Given the description of an element on the screen output the (x, y) to click on. 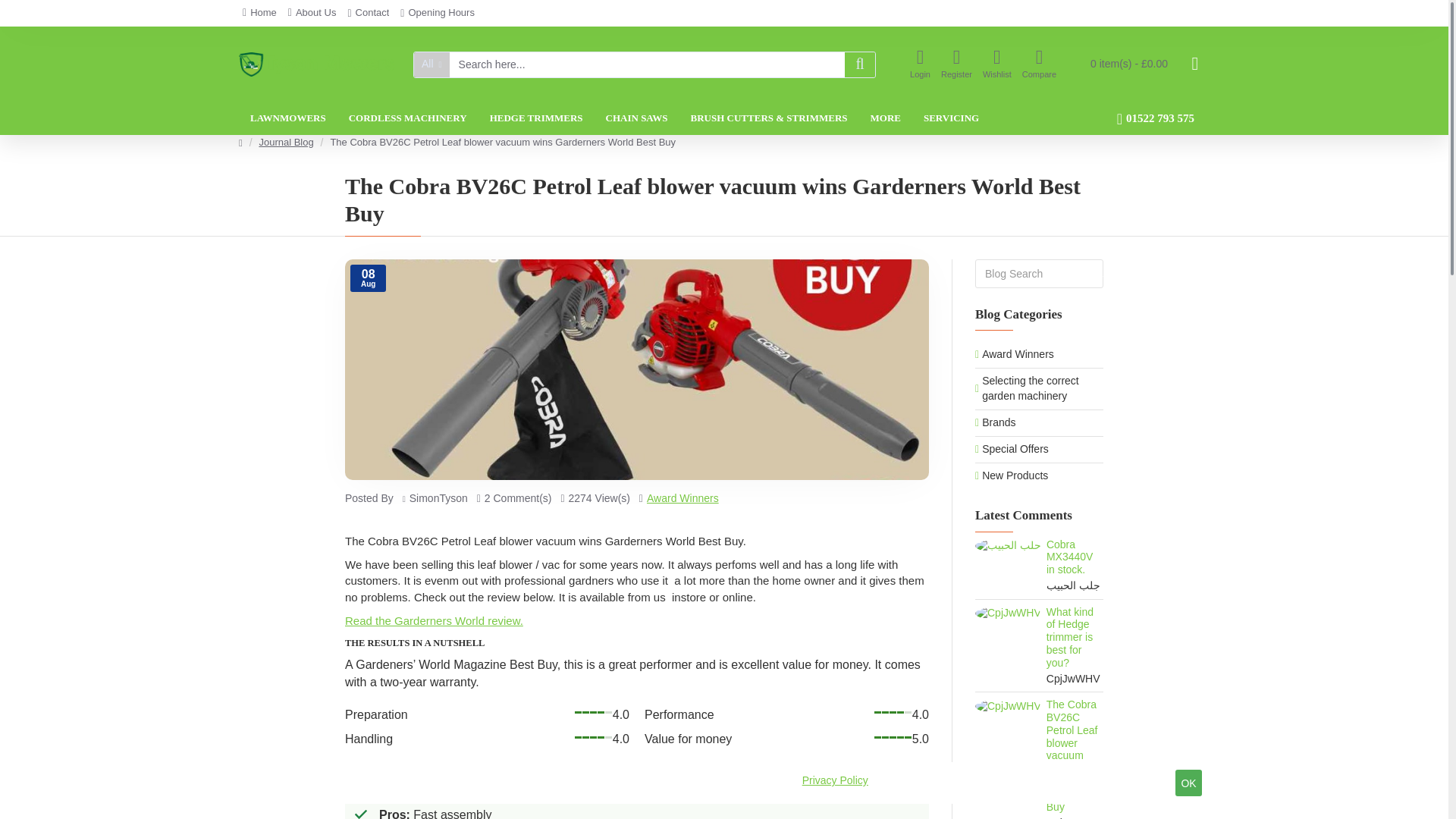
About Us (311, 13)
Home (259, 13)
Register (956, 64)
LAWNMOWERS (287, 118)
Opening Hours (437, 13)
Compare (1038, 64)
CORDLESS MACHINERY (408, 118)
Wishlist (996, 64)
Tyson Mowers (316, 64)
